Given the description of an element on the screen output the (x, y) to click on. 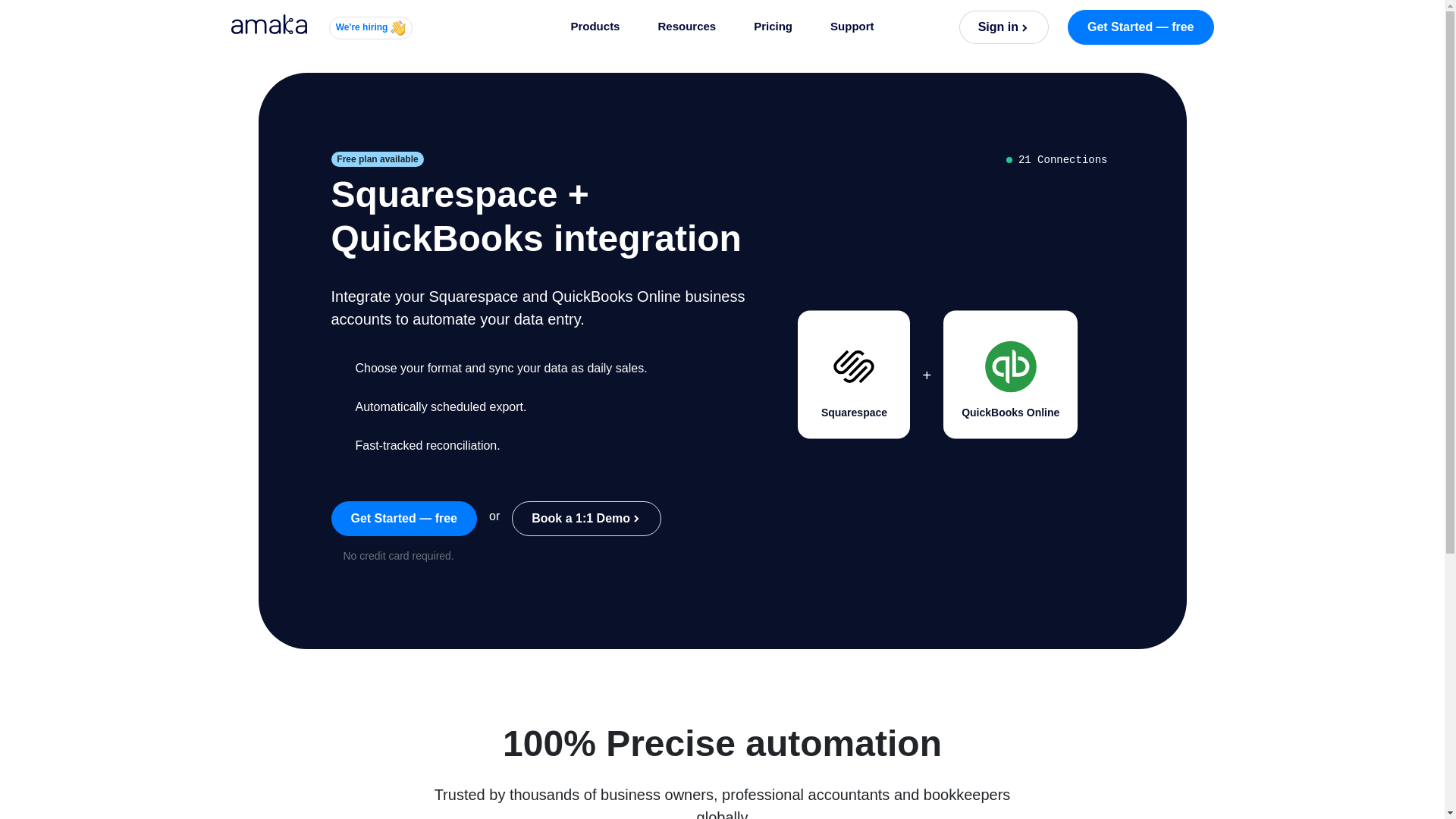
We're hiring (370, 27)
Pricing (772, 26)
Products (595, 26)
Resources (687, 26)
Sign in (1003, 27)
Support (851, 26)
